Given the description of an element on the screen output the (x, y) to click on. 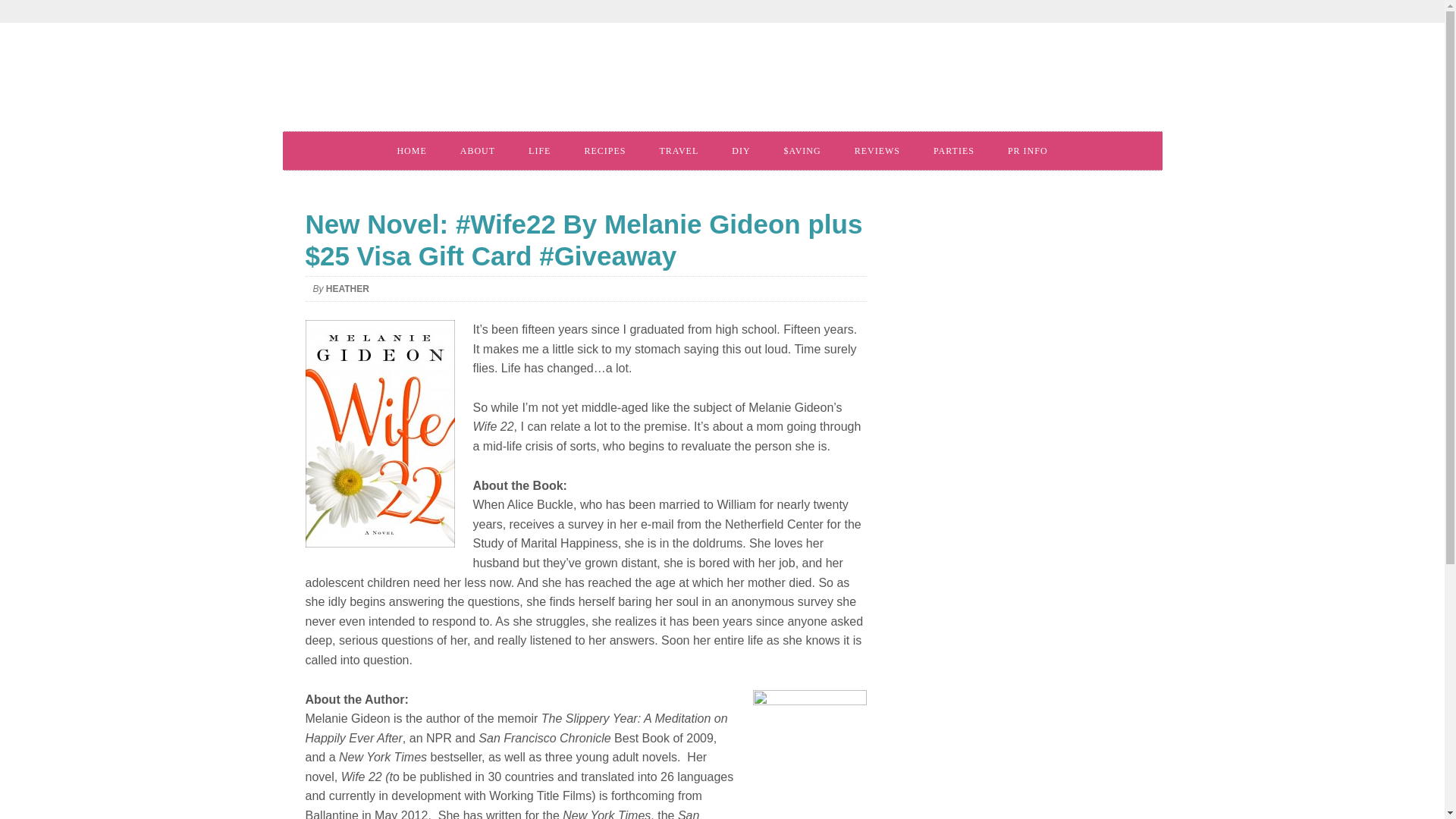
TRAVEL (678, 150)
LIFE (539, 150)
ABOUT (478, 150)
DIY (740, 150)
HOME (411, 150)
Girl Gone Mom (509, 82)
RECIPES (604, 150)
